Given the description of an element on the screen output the (x, y) to click on. 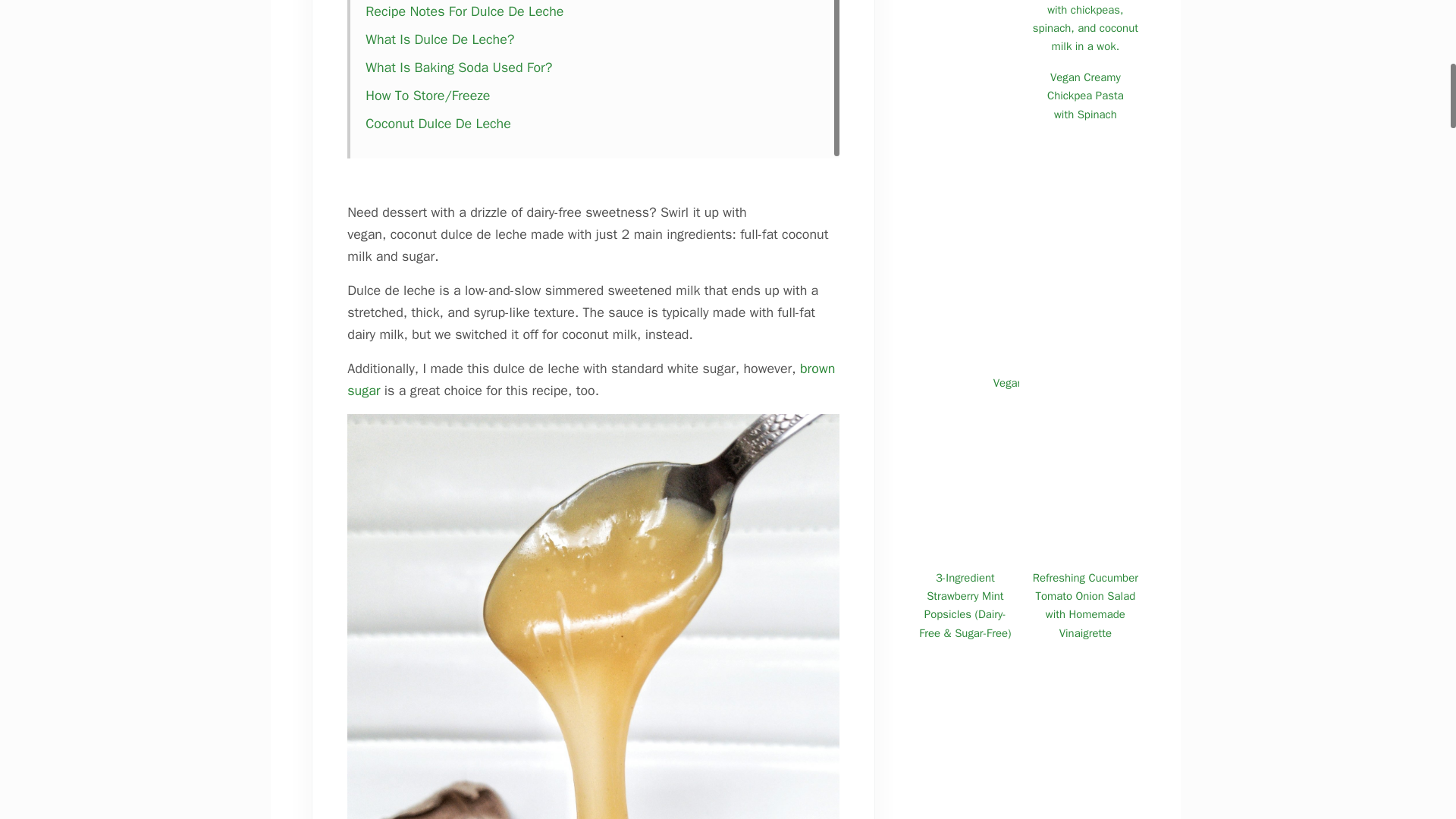
What Is Baking Soda Used For?  (460, 67)
What Is Dulce De Leche? (439, 39)
brown sugar (590, 379)
Recipe Notes For Dulce De Leche (464, 11)
Coconut Dulce De Leche (438, 123)
